Given the description of an element on the screen output the (x, y) to click on. 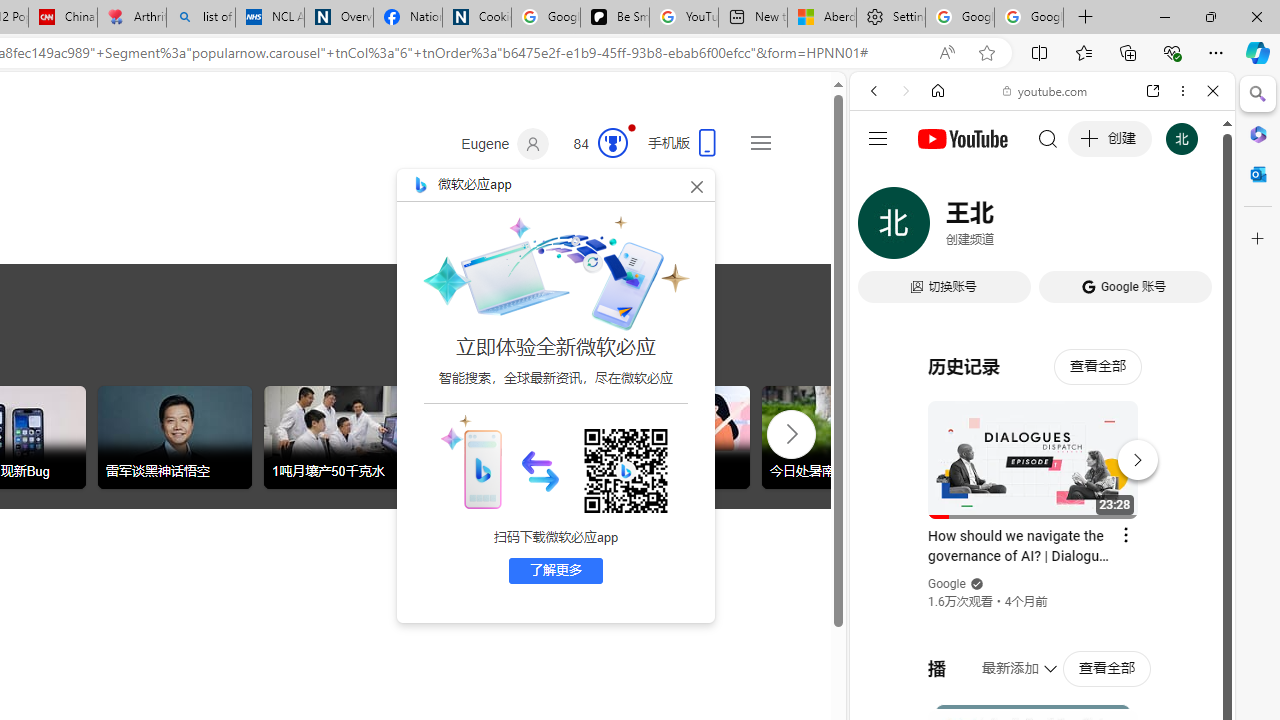
Music (1042, 543)
Collections (1128, 52)
Microsoft Rewards 84 (594, 143)
Split screen (1039, 52)
SEARCH TOOLS (1093, 228)
Class: rms_img (470, 461)
Add this page to favorites (Ctrl+D) (986, 53)
